Given the description of an element on the screen output the (x, y) to click on. 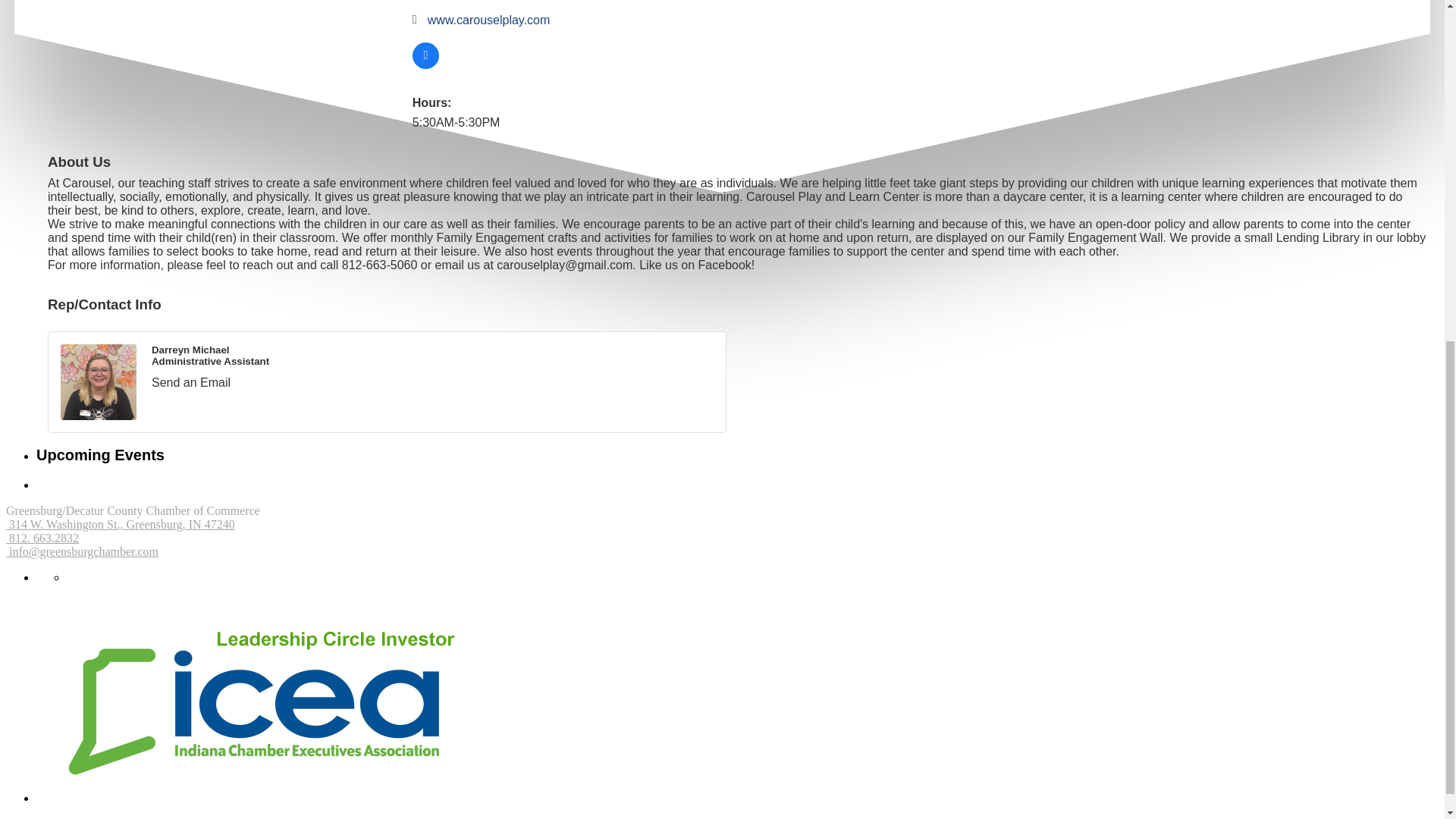
View on Facebook (425, 64)
www.carouselplay.com (489, 20)
2024 Annual Dinner (115, 6)
Events Calendar (106, 20)
